Given the description of an element on the screen output the (x, y) to click on. 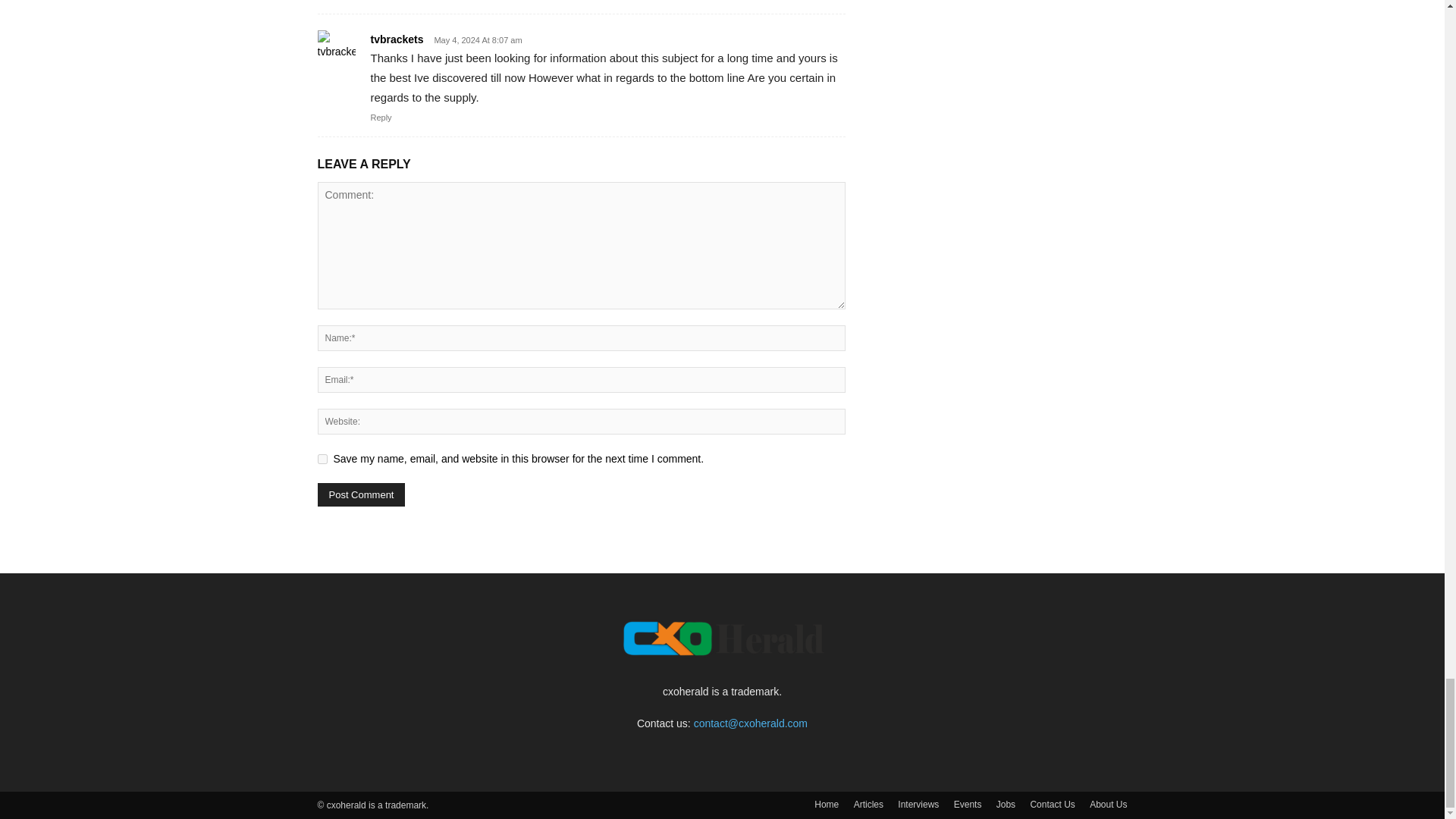
yes (321, 459)
Post Comment (360, 494)
